Given the description of an element on the screen output the (x, y) to click on. 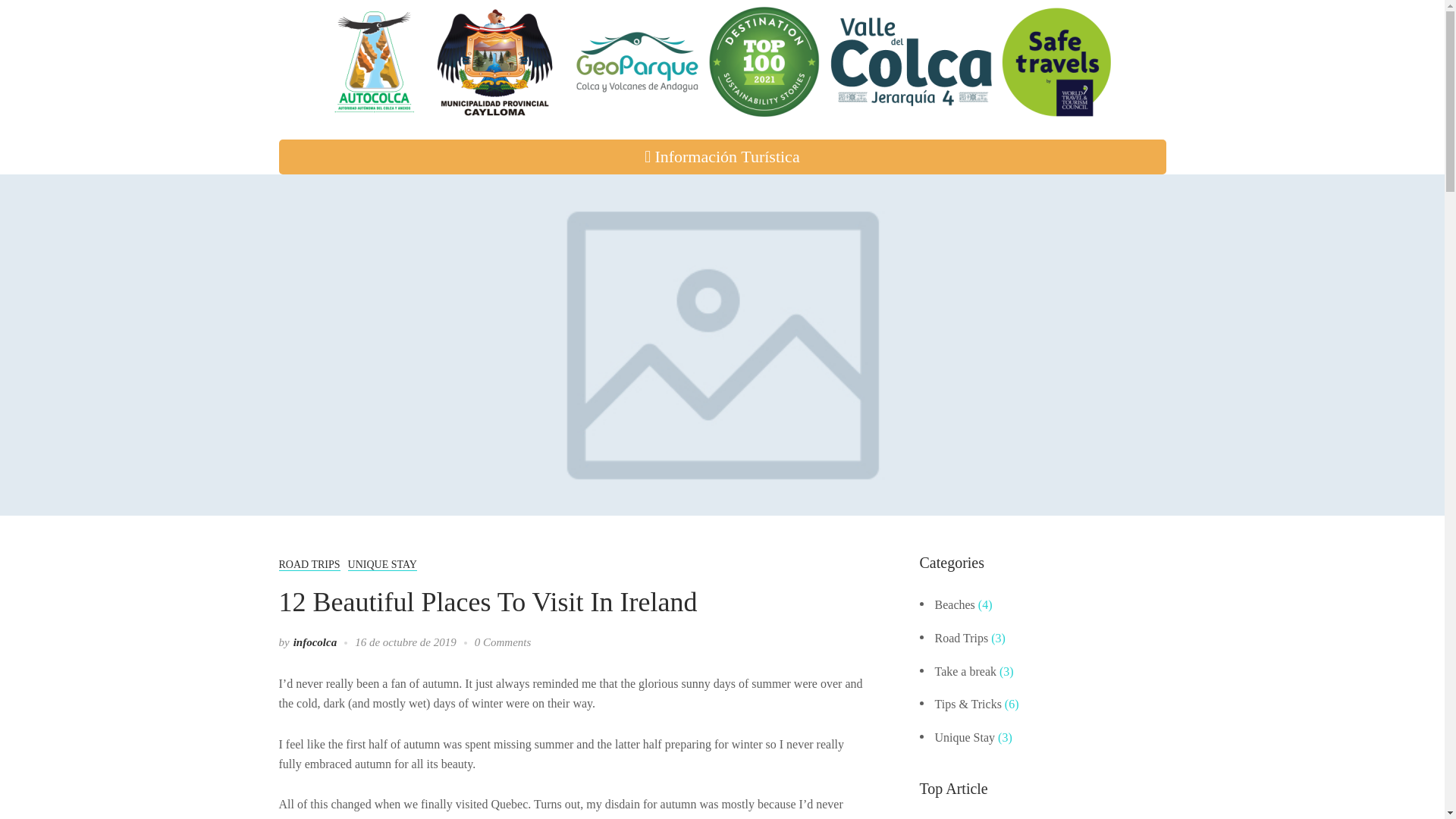
Take a break (964, 671)
ROAD TRIPS (309, 564)
Road Trips (961, 637)
Entradas de infocolca (315, 642)
Unique Stay (964, 737)
UNIQUE STAY (381, 564)
Beaches (954, 604)
infocolca (315, 642)
